Given the description of an element on the screen output the (x, y) to click on. 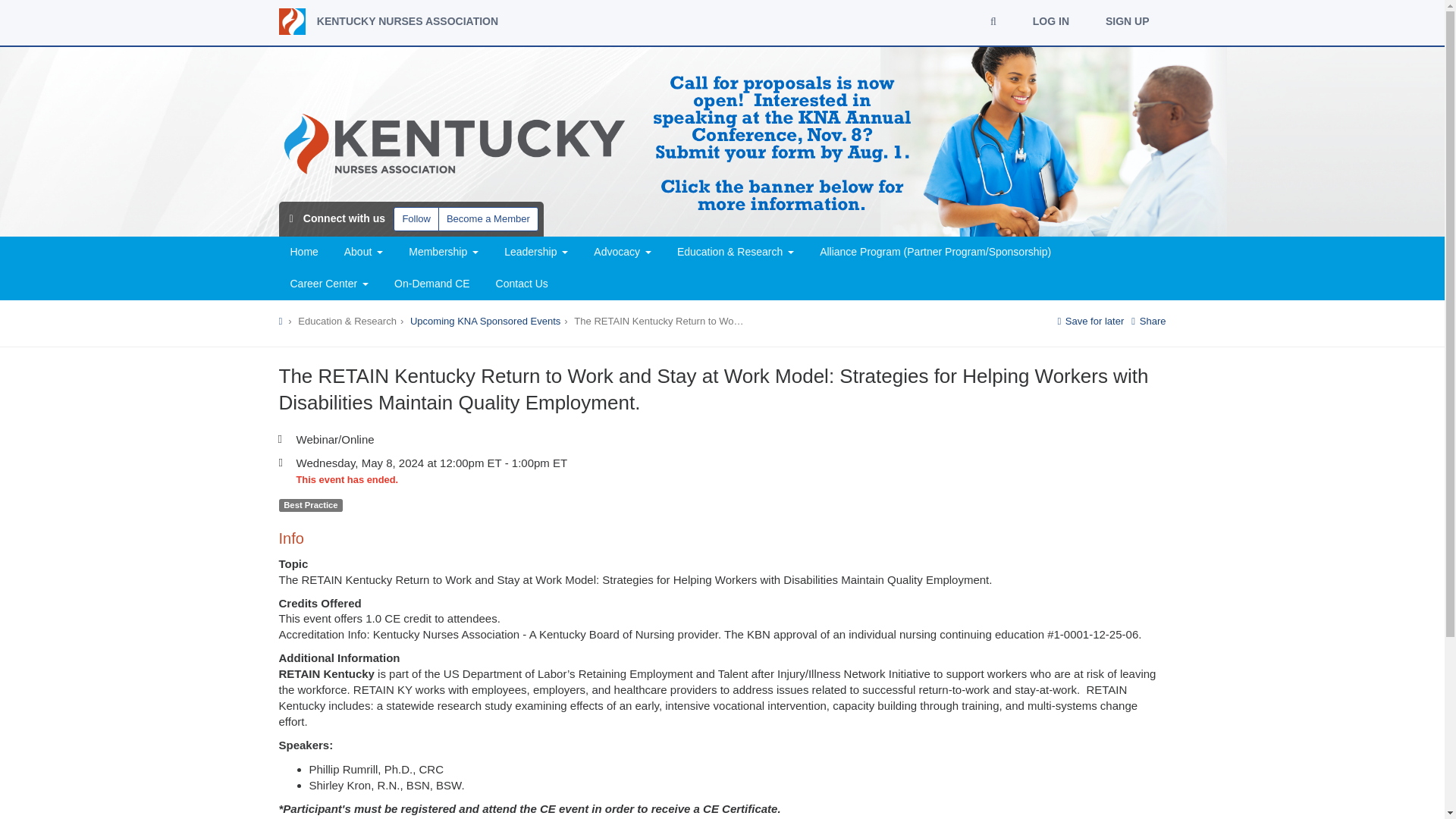
Upcoming KNA Sponsored Events (485, 320)
About (363, 252)
KENTUCKY NURSES ASSOCIATION (389, 21)
Become a Member (488, 218)
SIGN UP (1127, 20)
Home (304, 252)
LOG IN (1051, 20)
Save for later (1090, 320)
